Given the description of an element on the screen output the (x, y) to click on. 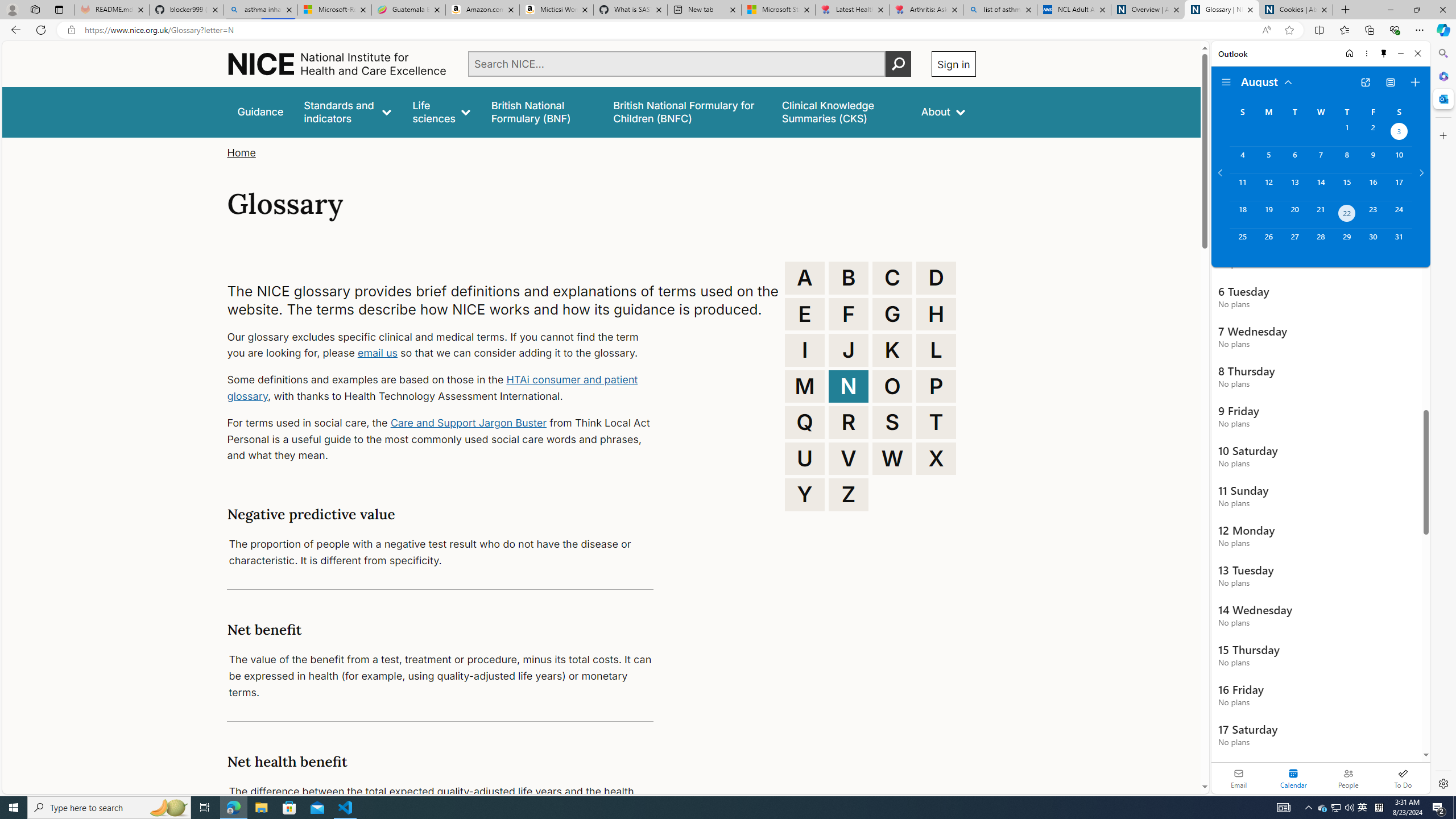
P (935, 385)
Email (1238, 777)
Guidance (260, 111)
Add this page to favorites (Ctrl+D) (1289, 29)
Thursday, August 1, 2024.  (1346, 132)
Guidance (260, 111)
Y (804, 494)
Browser essentials (1394, 29)
B (848, 277)
Back (13, 29)
J (848, 350)
Restore (1416, 9)
H (935, 313)
